Given the description of an element on the screen output the (x, y) to click on. 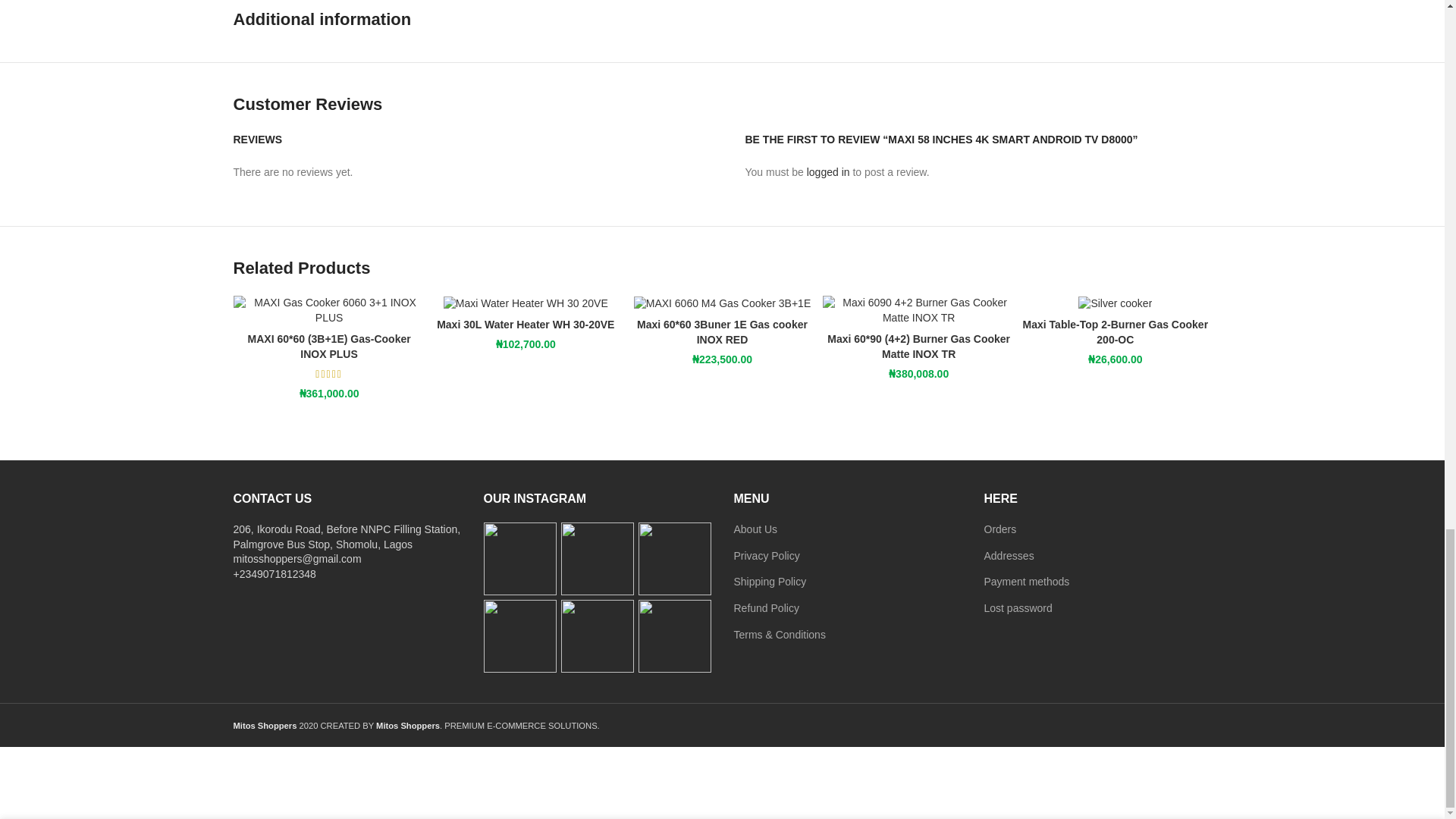
3436997136 1 Mitos Shoppers (721, 303)
d41e6540193dc30317de0f62739aa12a3ba35c8e Mitos Shoppers (1114, 303)
Maxi Water Heater WH 3020VE 1 Mitos Shoppers (526, 303)
ezgifcomgifmaker 20210810T083029951 Mitos Shoppers (1311, 310)
